Given the description of an element on the screen output the (x, y) to click on. 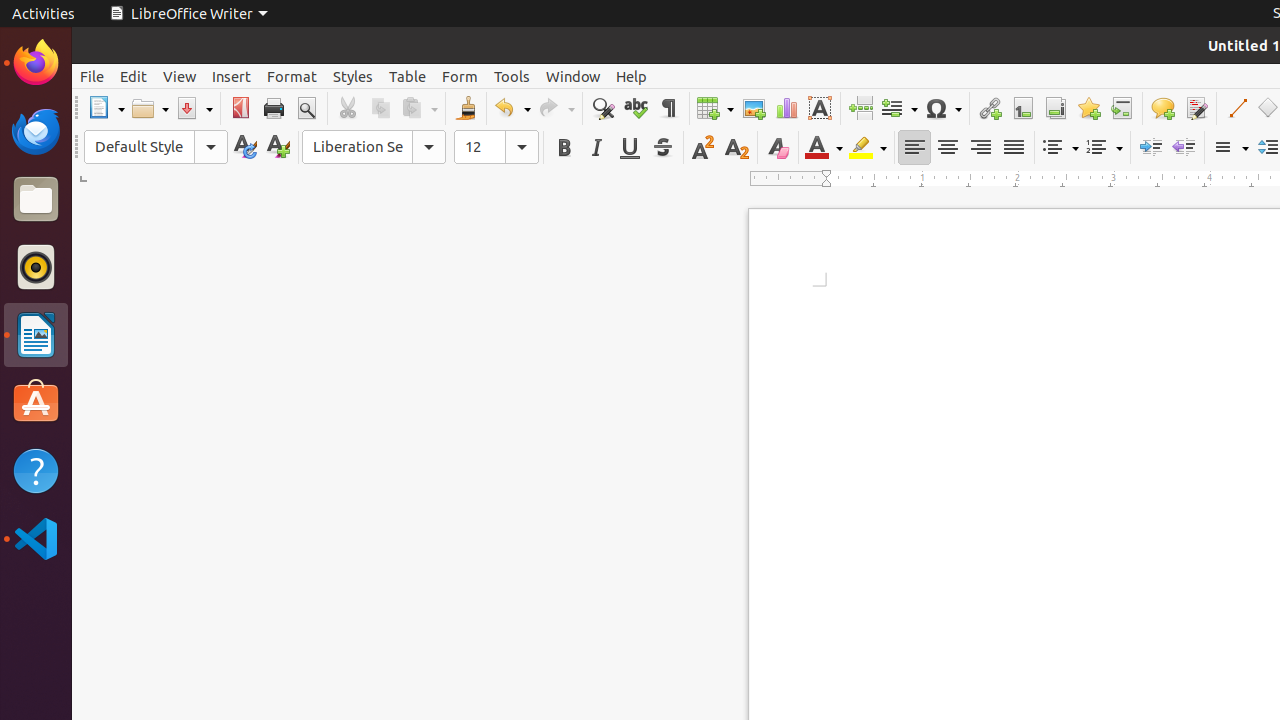
New Element type: push-button (277, 147)
Find & Replace Element type: toggle-button (602, 108)
Redo Element type: push-button (556, 108)
Clone Element type: push-button (465, 108)
Form Element type: menu (460, 76)
